Given the description of an element on the screen output the (x, y) to click on. 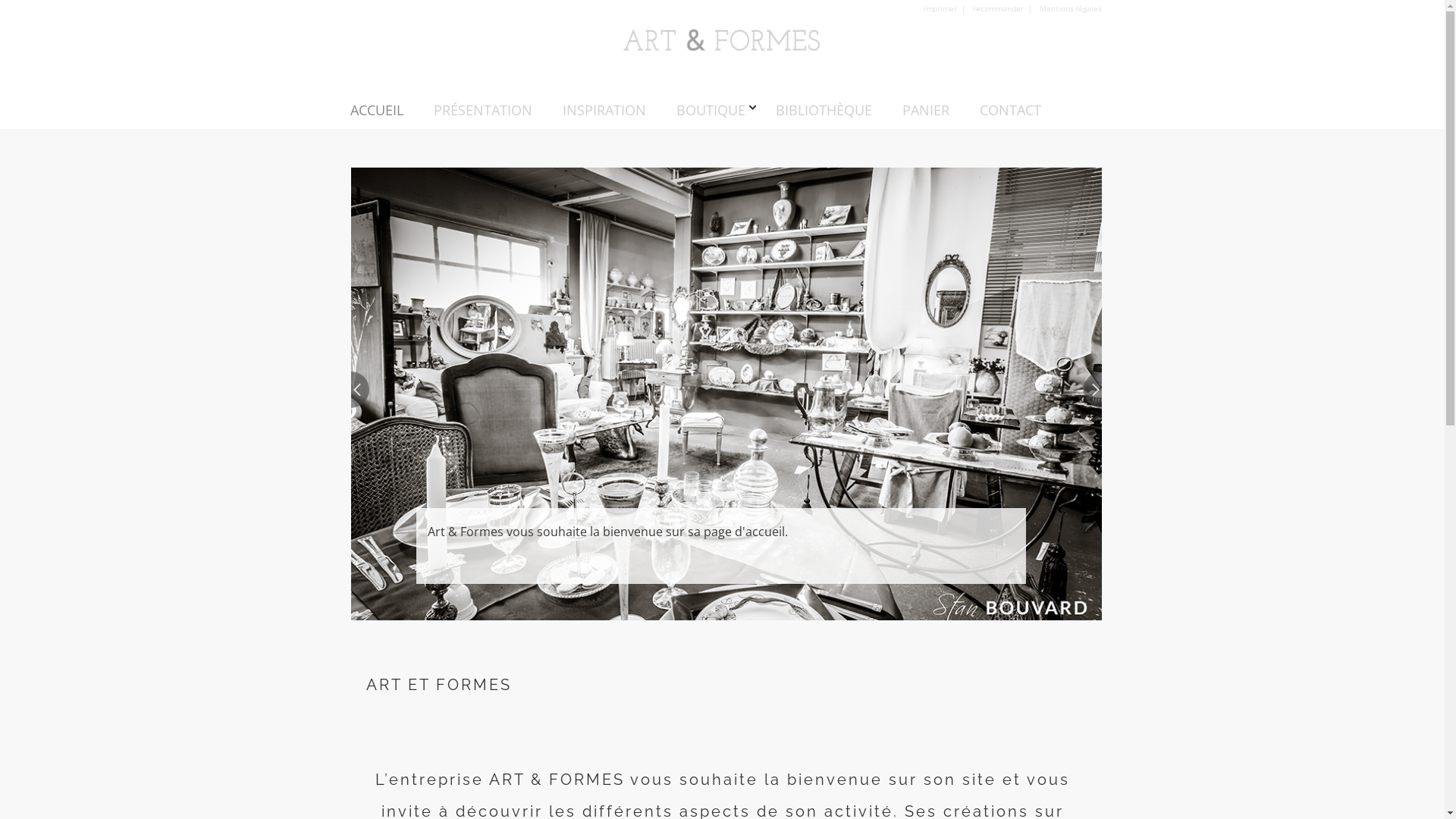
ACCUEIL Element type: text (376, 106)
CONTACT Element type: text (1010, 106)
INSPIRATION Element type: text (604, 106)
PANIER Element type: text (925, 106)
imprimer Element type: text (940, 8)
recommander Element type: text (997, 8)
BOUTIQUE Element type: text (710, 106)
